Given the description of an element on the screen output the (x, y) to click on. 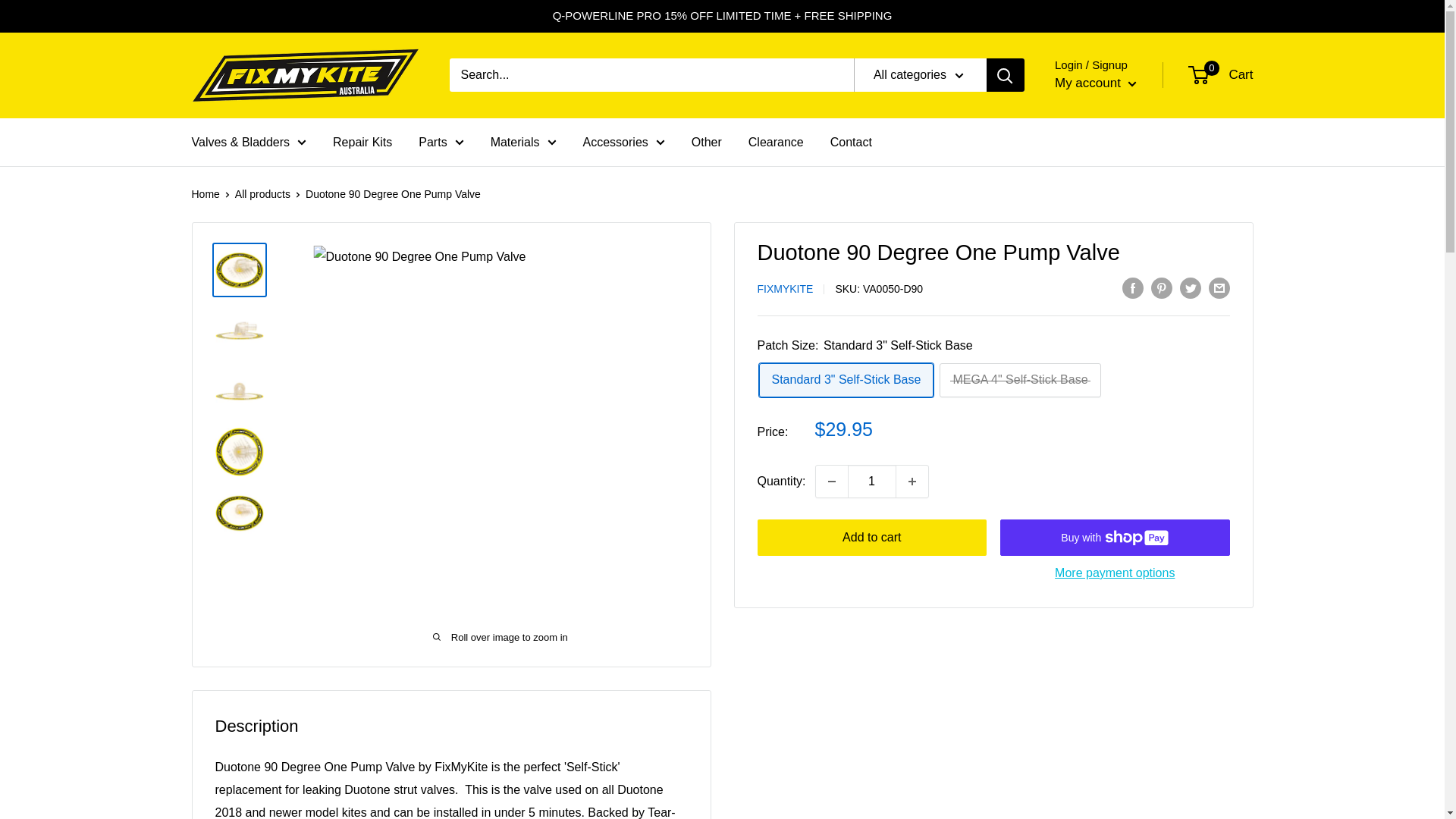
Standard 3" Self-Stick Base (845, 380)
1 (871, 481)
MEGA 4" Self-Stick Base (1019, 380)
Increase quantity by 1 (912, 481)
Decrease quantity by 1 (831, 481)
